Given the description of an element on the screen output the (x, y) to click on. 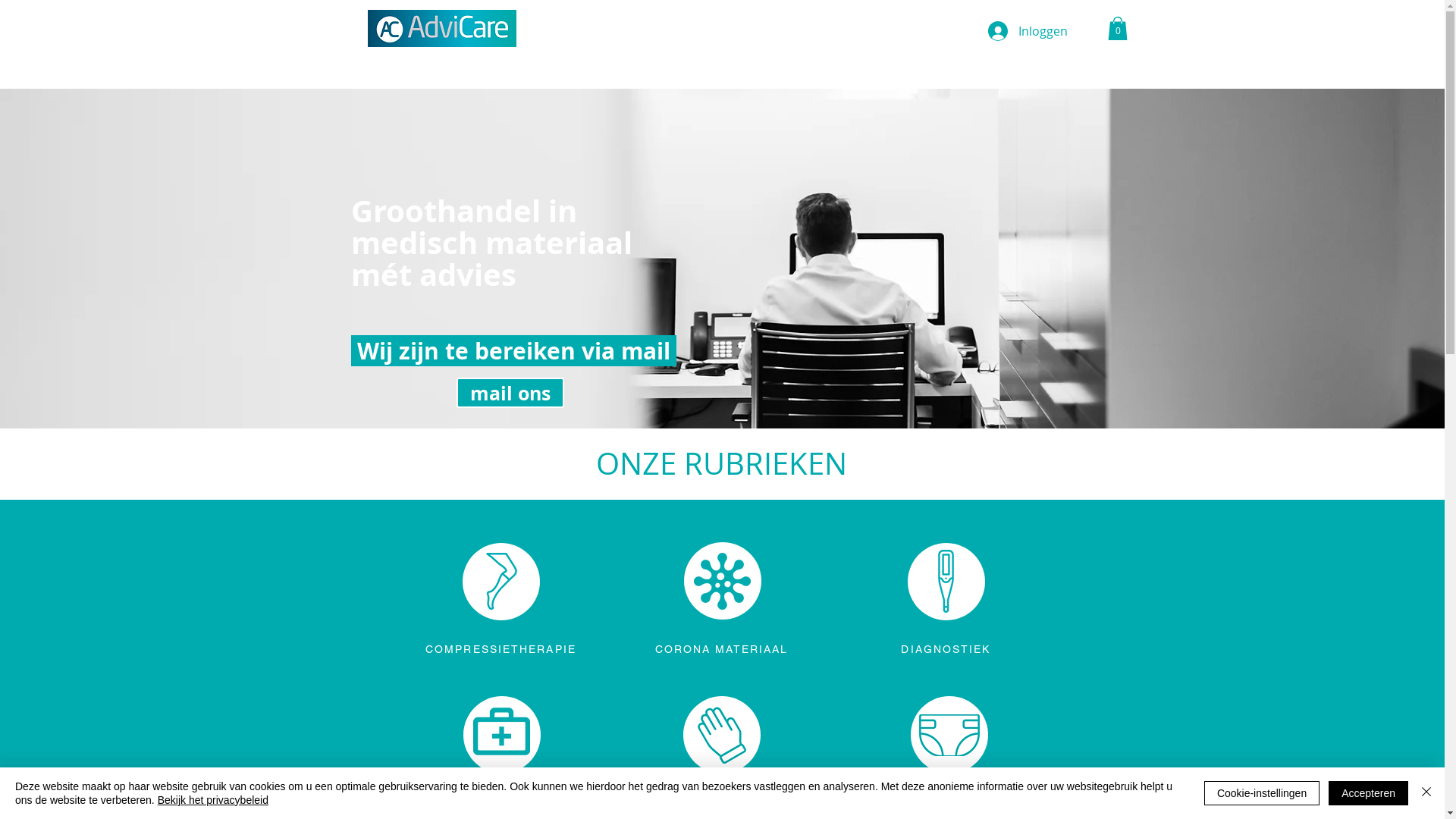
mail ons Element type: text (510, 392)
Cookie-instellingen Element type: text (1261, 793)
Accepteren Element type: text (1368, 793)
0 Element type: text (1116, 28)
Inloggen Element type: text (1007, 30)
Bekijk het privacybeleid Element type: text (212, 799)
